Given the description of an element on the screen output the (x, y) to click on. 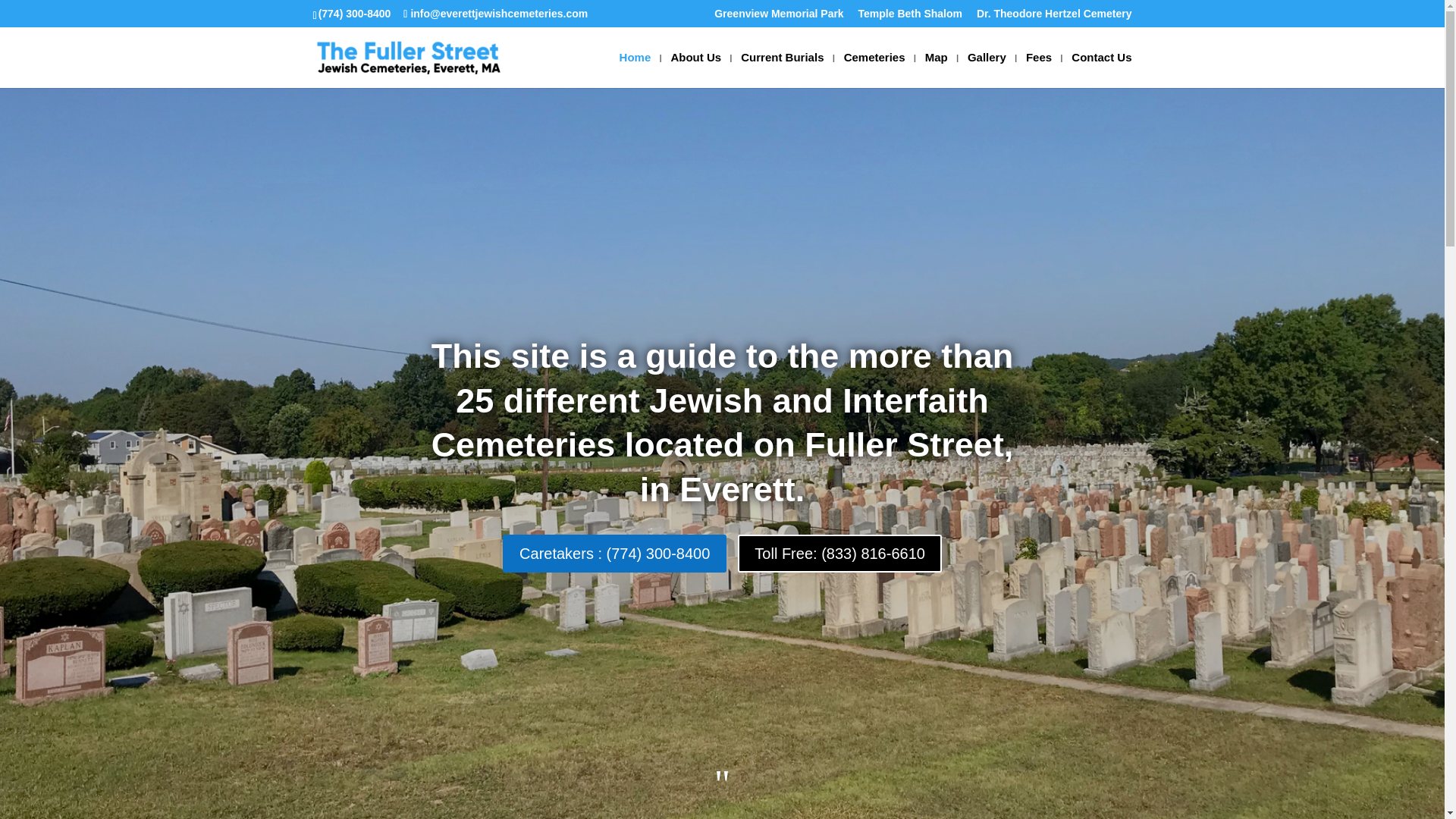
Contact Us (1101, 69)
Current Burials (782, 69)
Home (635, 69)
About Us (694, 69)
Dr. Theodore Hertzel Cemetery (1054, 16)
" (722, 784)
Gallery (987, 69)
Map (935, 69)
" (722, 784)
Fees (1038, 69)
Cemeteries (874, 69)
" (722, 784)
Greenview Memorial Park (778, 16)
Temple Beth Shalom (910, 16)
